Given the description of an element on the screen output the (x, y) to click on. 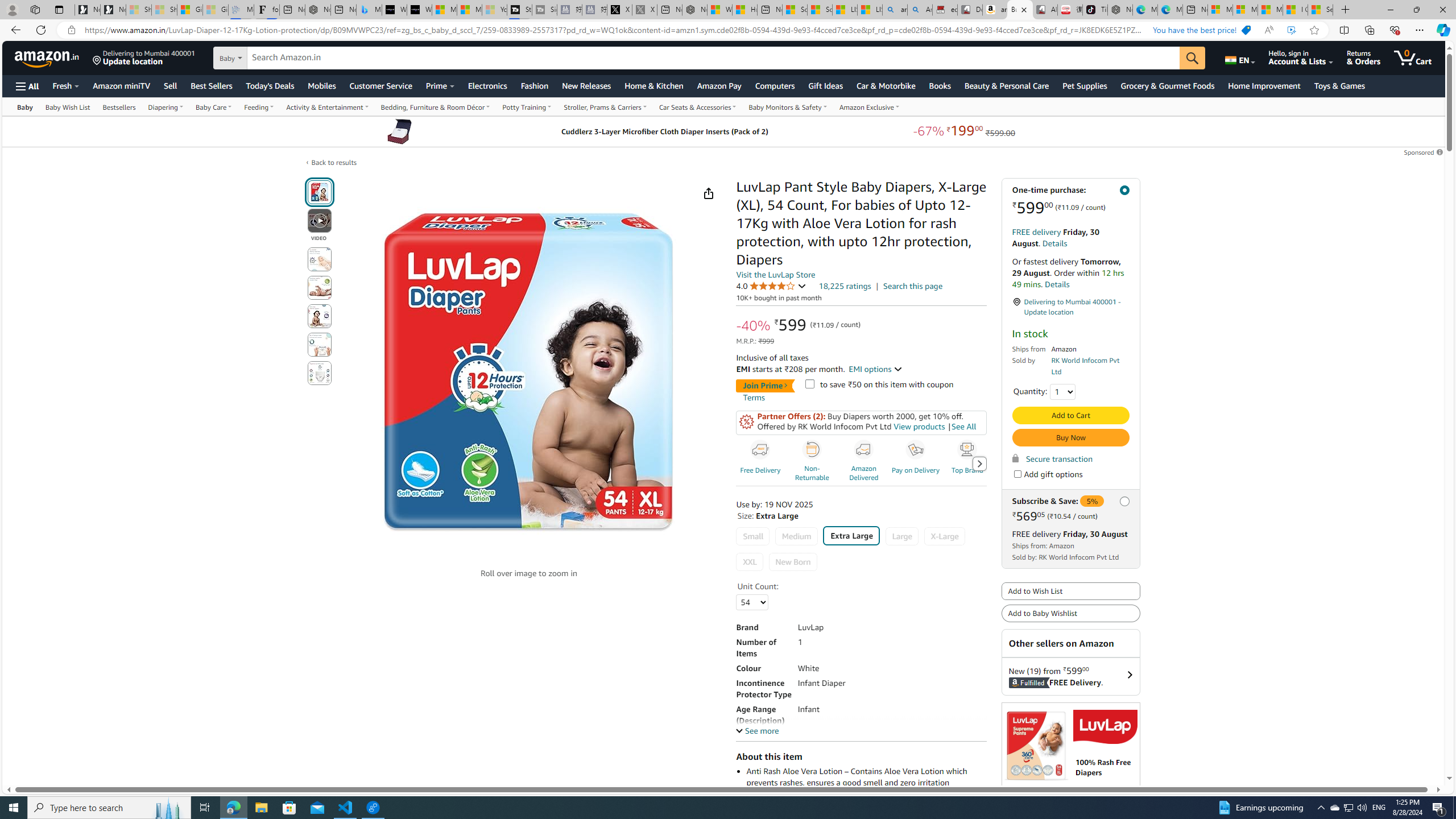
Beauty & Personal Care (1005, 85)
Delivering to Mumbai 400001 - Update location (1070, 306)
Small (753, 536)
Cuddlerz 3-Layer Microfiber Cloth Diaper Inserts (Pack of 2) (398, 131)
Amazon.in (47, 57)
0 items in cart (1413, 57)
Grocery & Gourmet Foods (1167, 85)
